Given the description of an element on the screen output the (x, y) to click on. 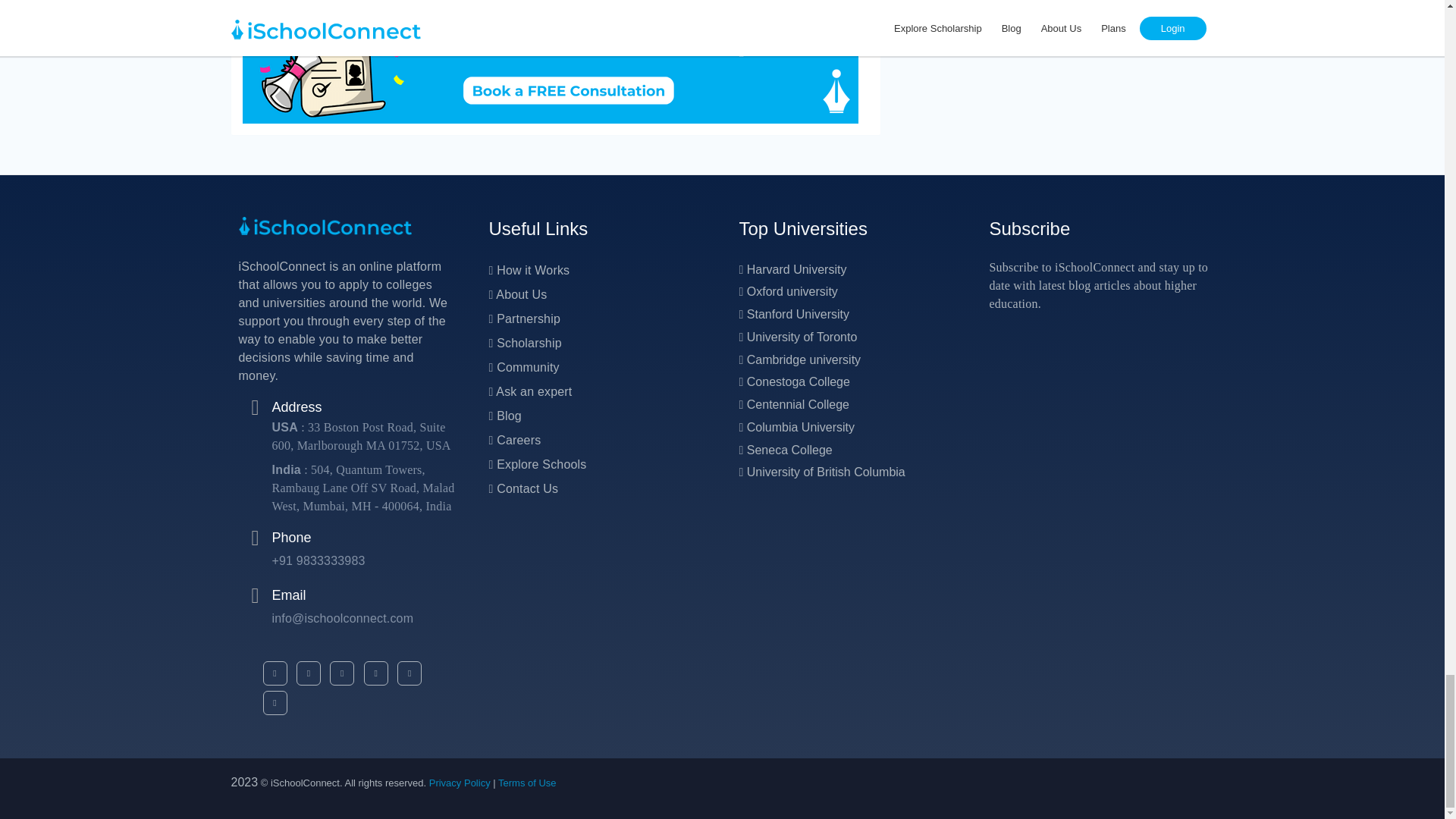
How it Works (528, 269)
Contact Us (522, 488)
Scholarship (523, 342)
Community (523, 367)
Oxford university (787, 291)
Ask an expert (529, 391)
Stanford University (793, 314)
Harvard University (791, 269)
About Us (517, 294)
Blog (504, 415)
Conestoga College (793, 381)
Explore Schools (536, 463)
Partnership (523, 318)
Careers (513, 440)
University of Toronto (797, 336)
